Given the description of an element on the screen output the (x, y) to click on. 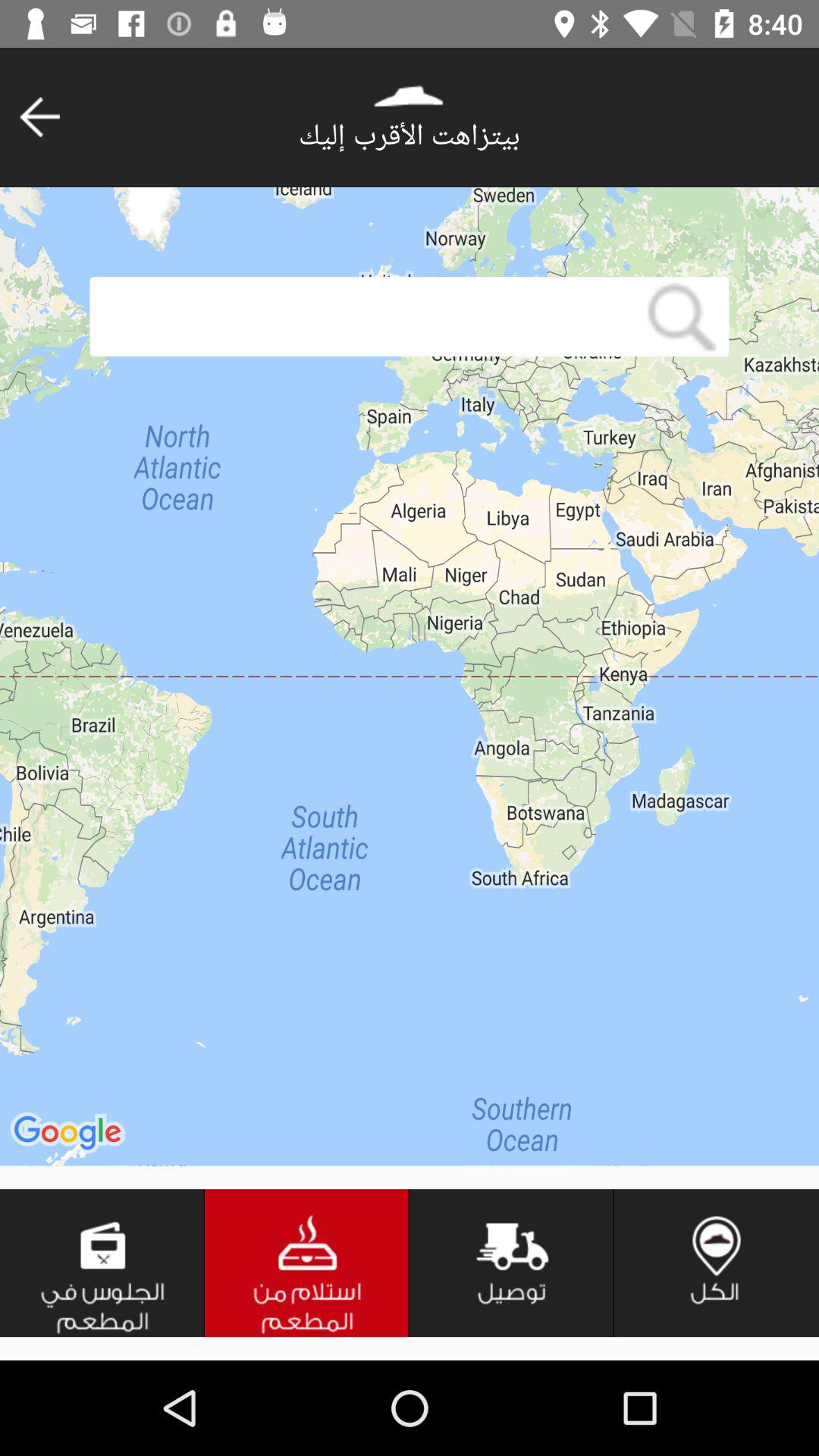
turn on item at the top left corner (39, 117)
